Given the description of an element on the screen output the (x, y) to click on. 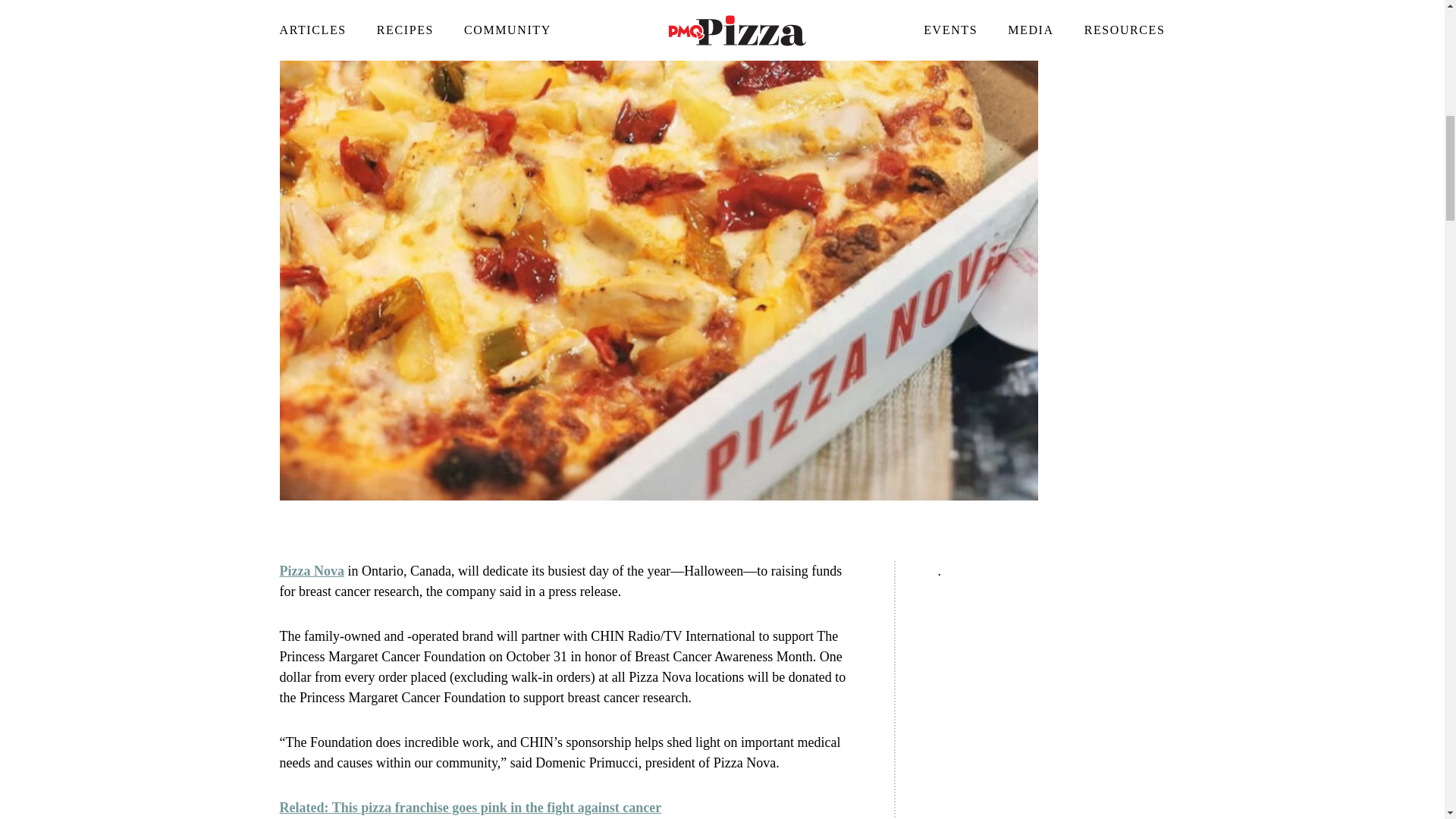
3rd party ad content (1050, 700)
